Given the description of an element on the screen output the (x, y) to click on. 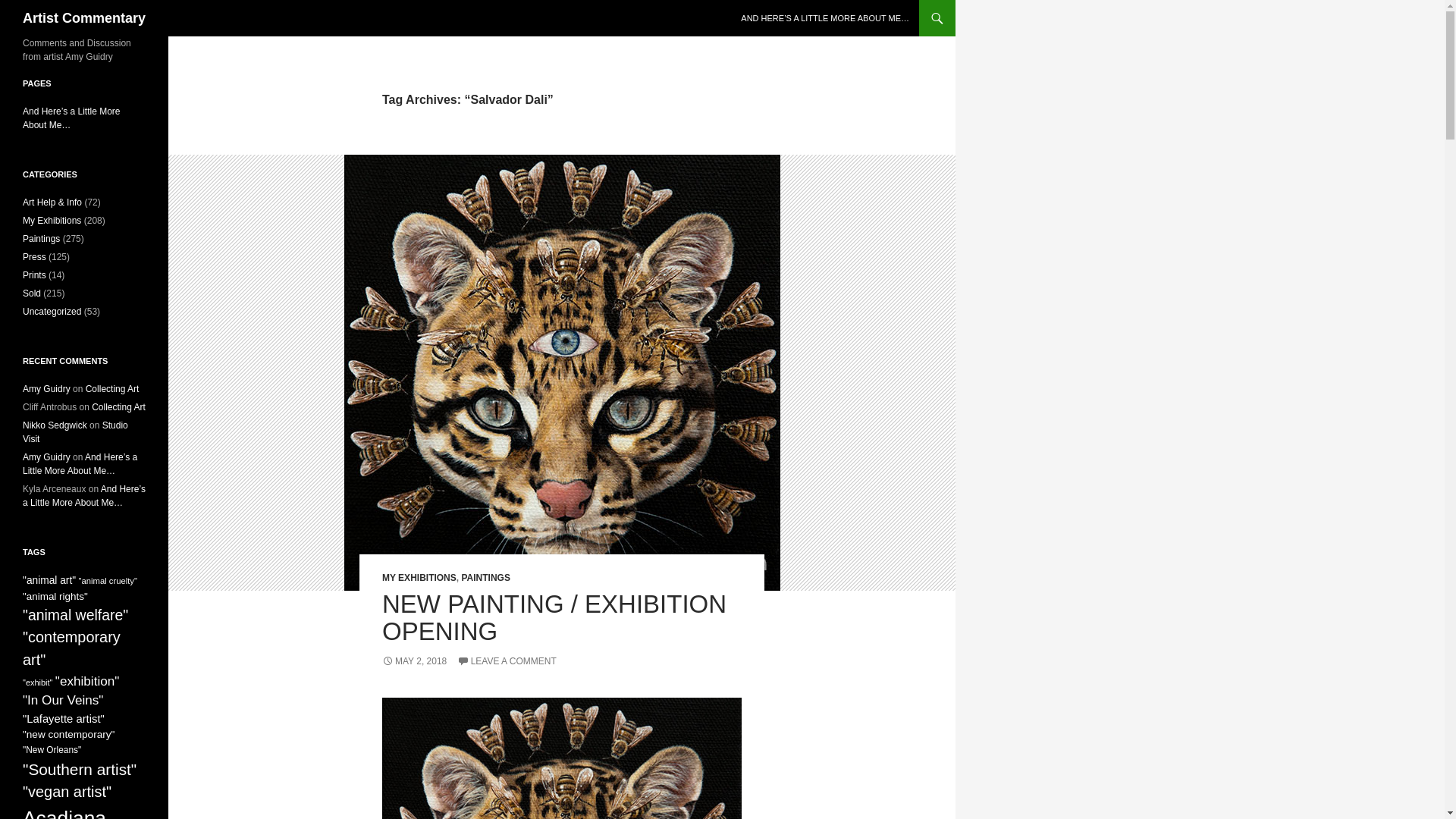
PAINTINGS (485, 577)
LEAVE A COMMENT (506, 661)
MAY 2, 2018 (413, 661)
MY EXHIBITIONS (419, 577)
Artist Commentary (84, 18)
